Given the description of an element on the screen output the (x, y) to click on. 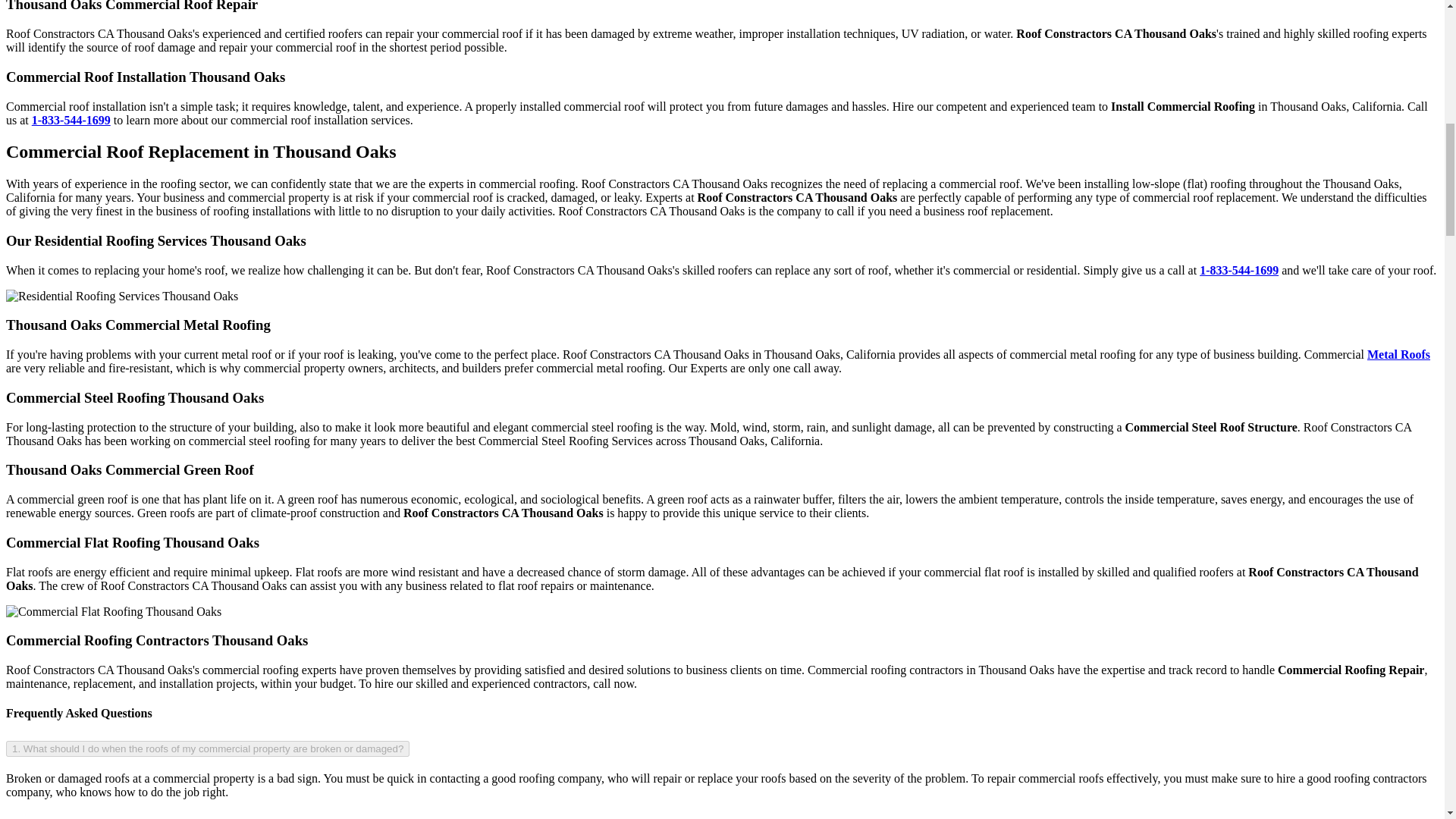
1-833-544-1699 (1238, 269)
1-833-544-1699 (71, 119)
Metal Roofs (1398, 354)
